Given the description of an element on the screen output the (x, y) to click on. 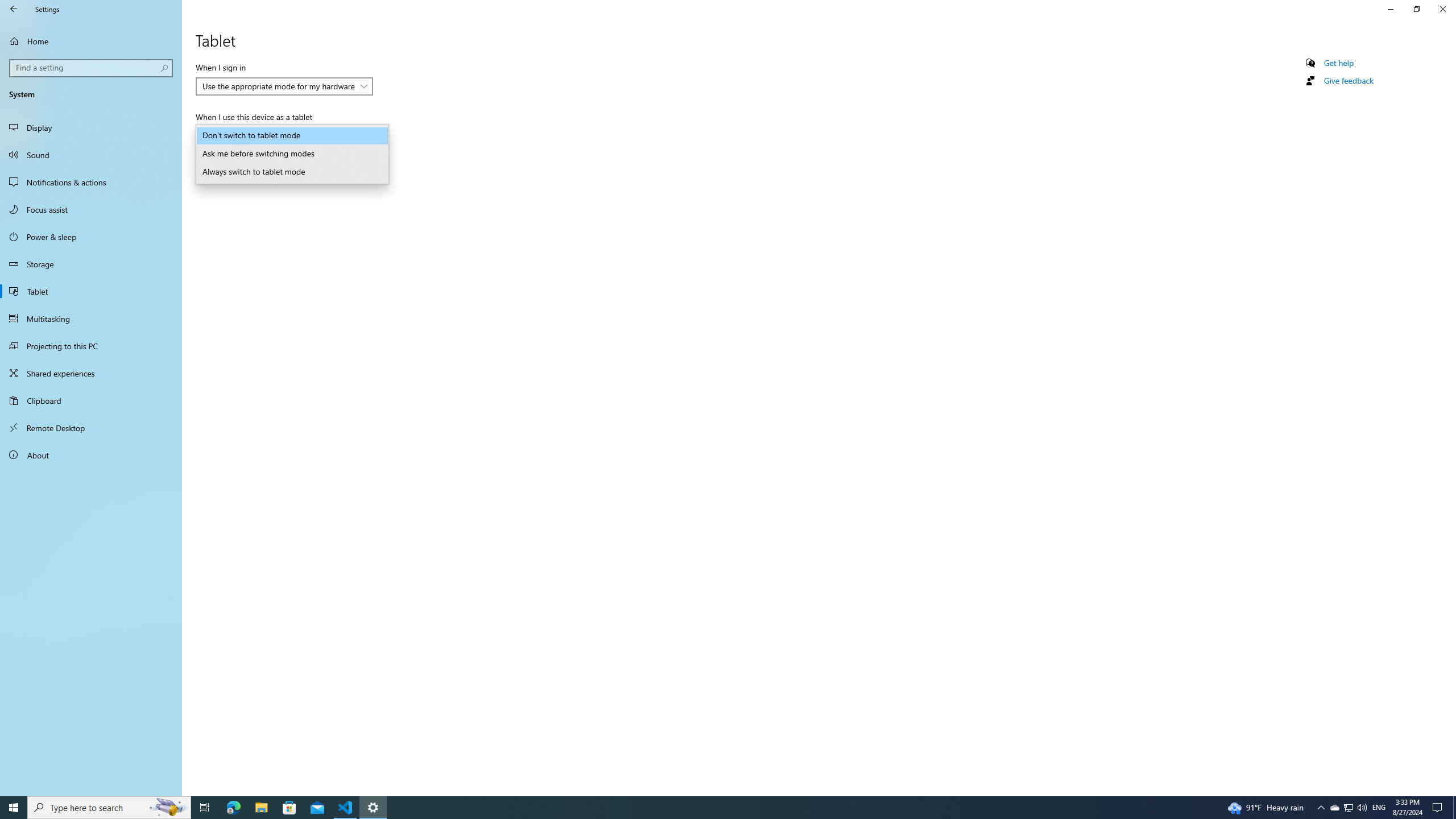
Task View (204, 807)
Microsoft Edge (233, 807)
Settings - 1 running window (373, 807)
Search box, Find a setting (91, 67)
Projecting to this PC (91, 345)
Notifications & actions (91, 181)
Change additional tablet settings (253, 166)
File Explorer (261, 807)
User Promoted Notification Area (1347, 807)
Give feedback (1348, 80)
Display (91, 126)
Running applications (706, 807)
About (91, 454)
Close Settings (1442, 9)
